Given the description of an element on the screen output the (x, y) to click on. 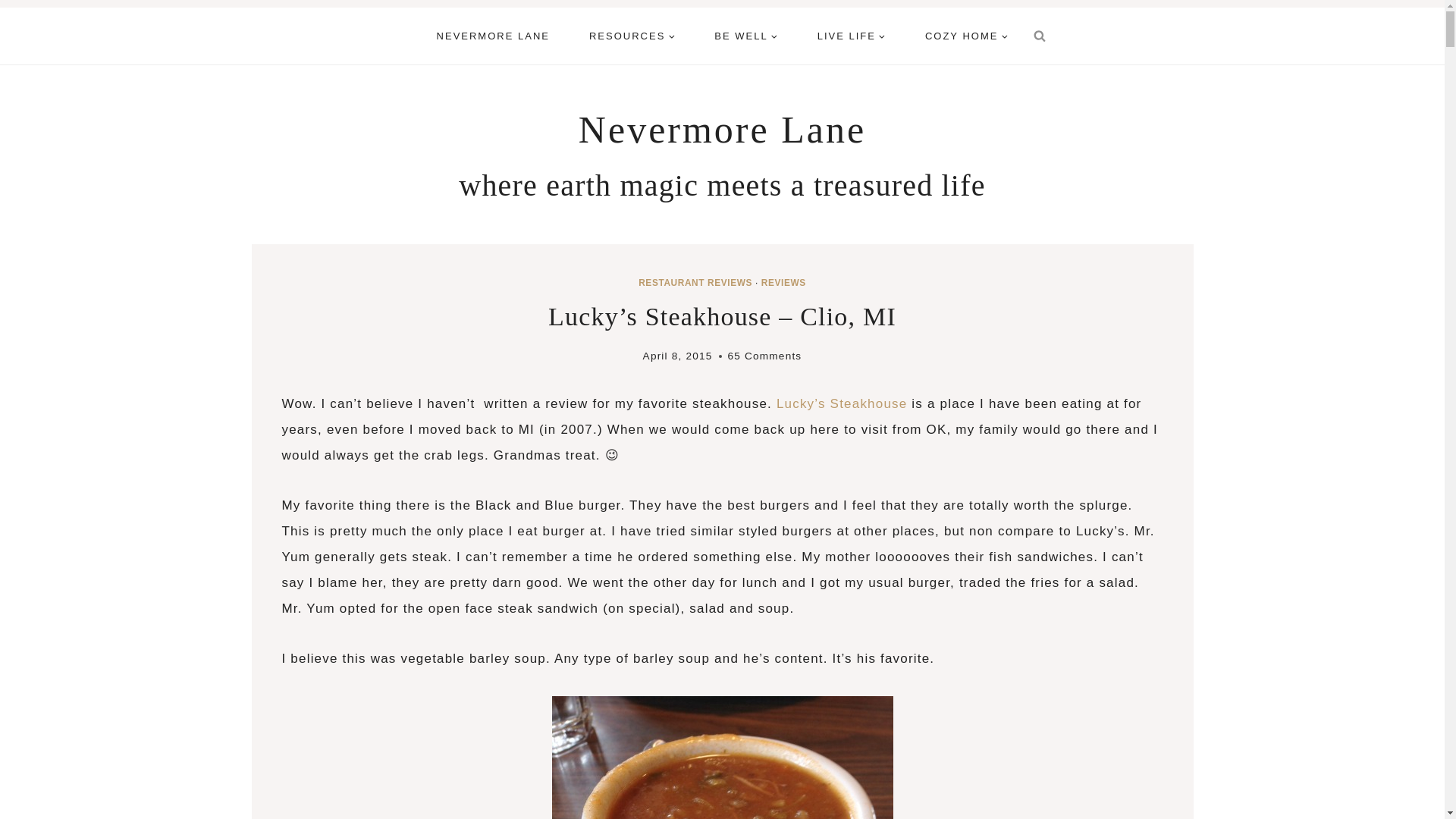
RESOURCES (631, 35)
LIVE LIFE (851, 35)
COZY HOME (966, 35)
BE WELL (745, 35)
65 Comments (765, 355)
NEVERMORE LANE (492, 35)
